Given the description of an element on the screen output the (x, y) to click on. 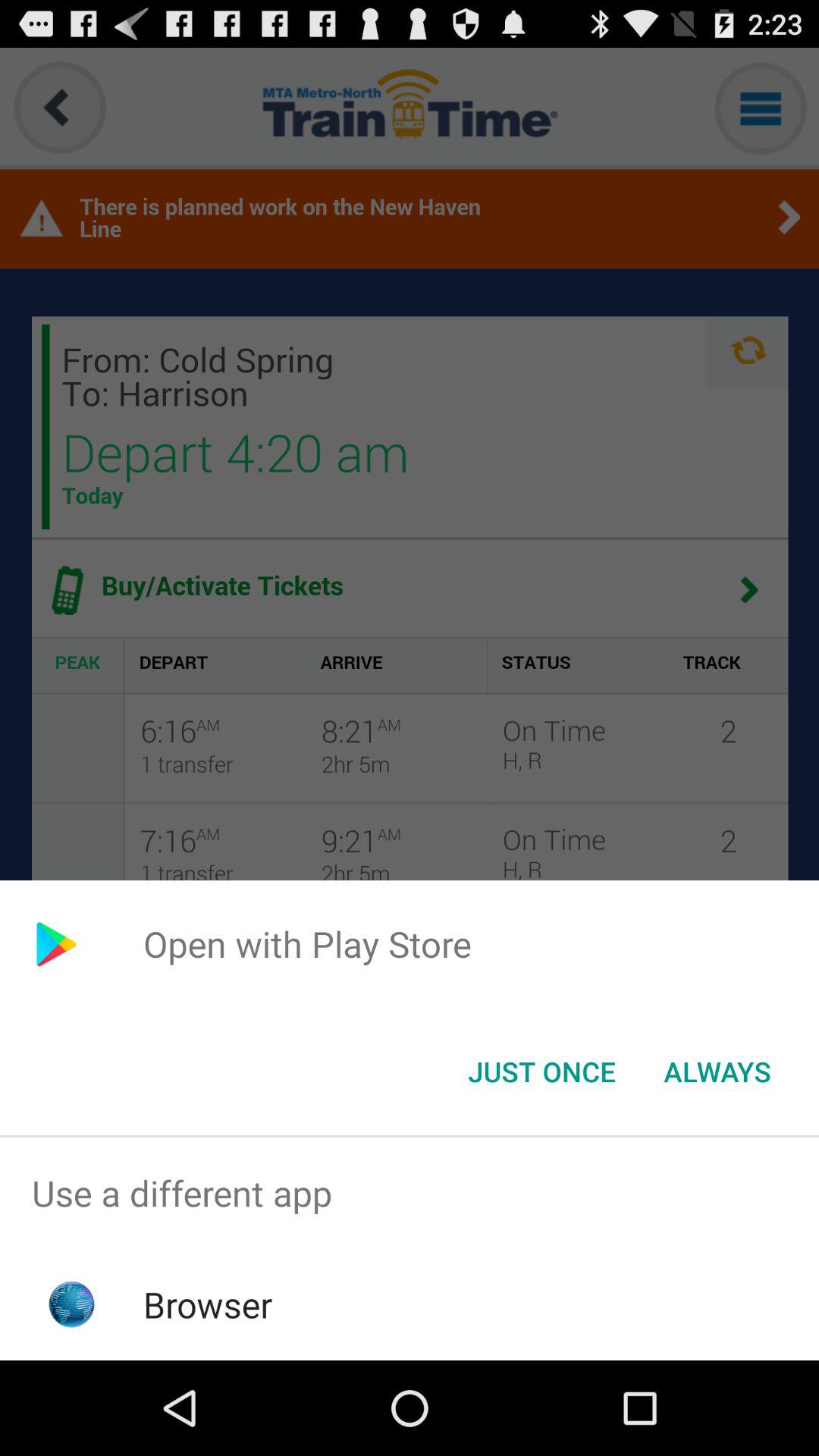
turn off the icon below the use a different (207, 1304)
